Given the description of an element on the screen output the (x, y) to click on. 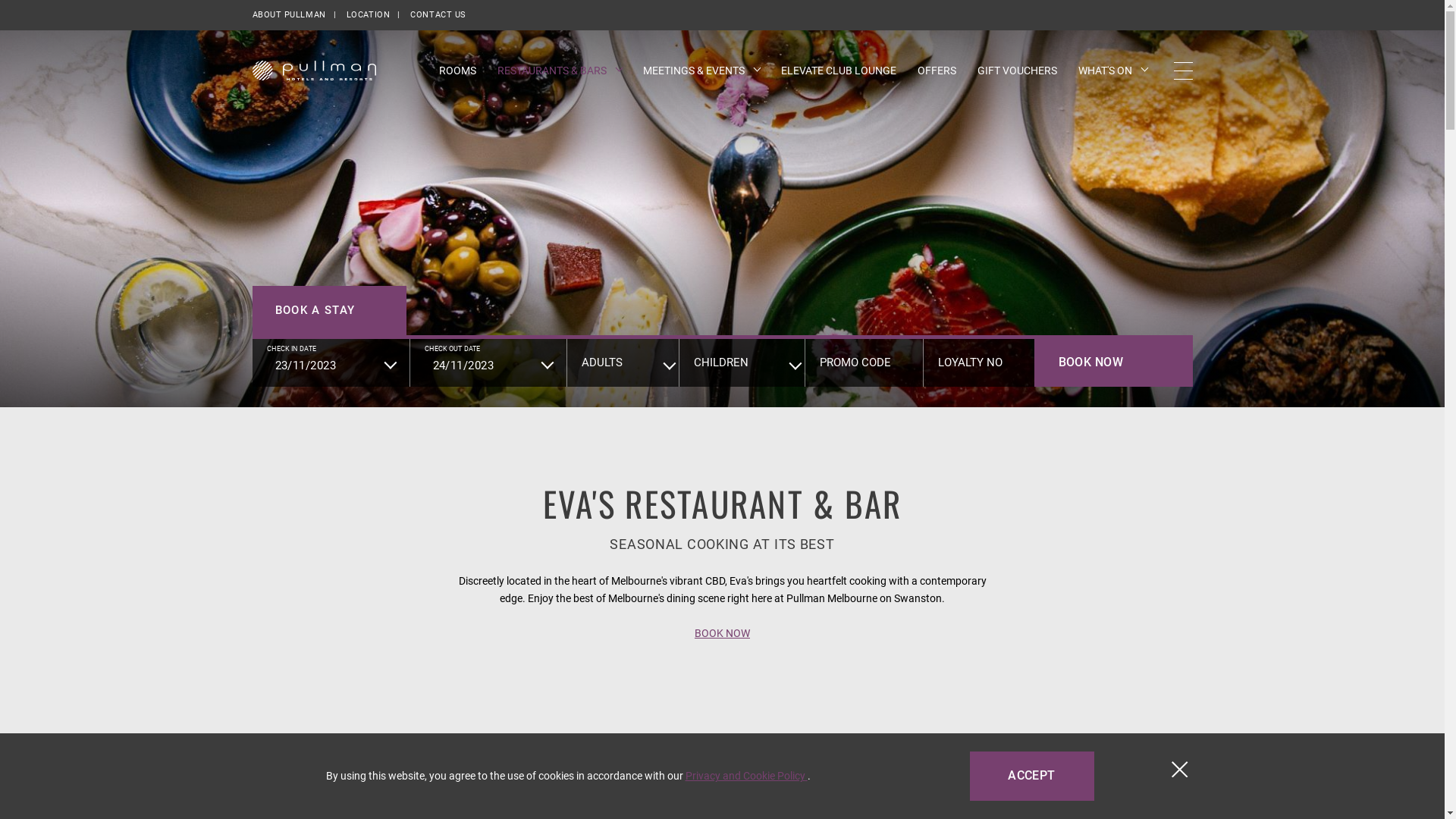
Privacy and Cookie Policy
Opens in a new tab. Element type: text (746, 775)
WHAT'S ON Element type: text (1112, 70)
BOOK A STAY Element type: text (328, 310)
BOOK NOW Element type: text (1113, 362)
MEETINGS & EVENTS Element type: text (701, 70)
ELEVATE CLUB LOUNGE Element type: text (838, 70)
BOOK NOW
Opens in a new tab. Element type: text (721, 633)
ROOMS Element type: text (456, 70)
CONTACT US Element type: text (438, 14)
ACCEPT Element type: text (1031, 775)
ABOUT PULLMAN Element type: text (288, 14)
RESTAURANTS & BARS Element type: text (559, 70)
OFFERS Element type: text (936, 70)
GIFT VOUCHERS
OPENS IN A NEW TAB. Element type: text (1016, 70)
LOCATION Element type: text (367, 14)
